Given the description of an element on the screen output the (x, y) to click on. 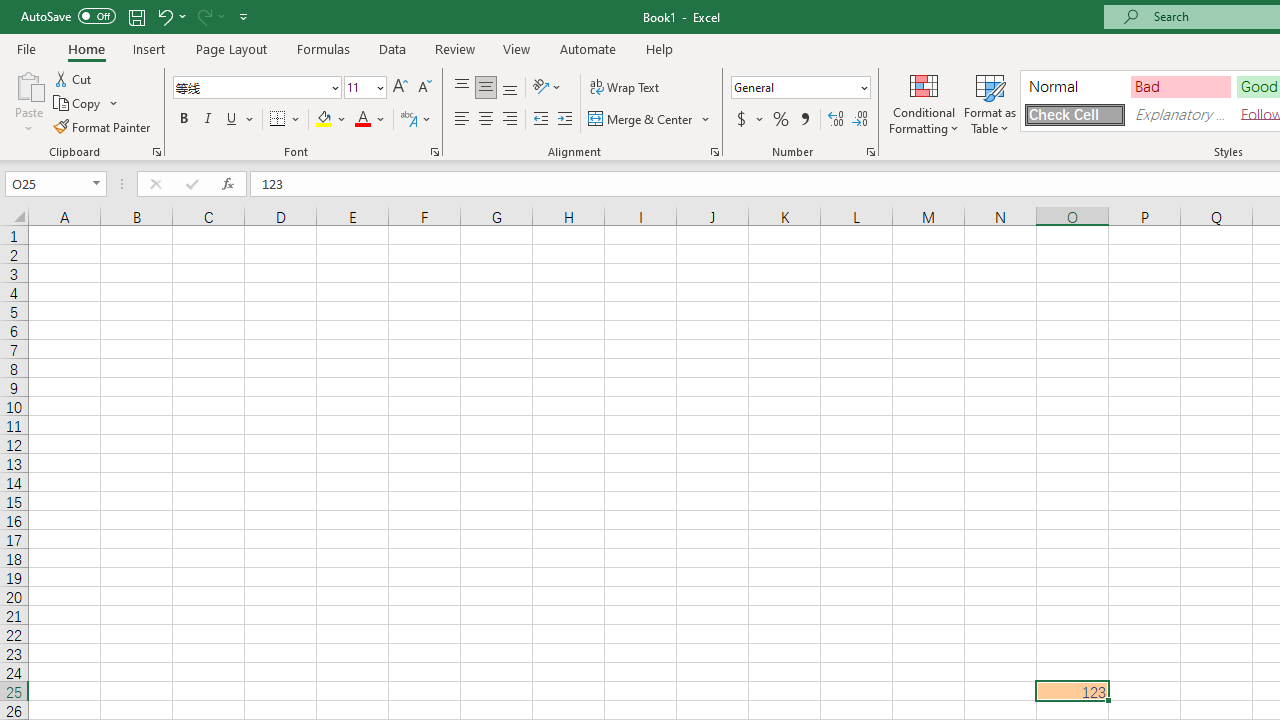
Copy (85, 103)
Decrease Decimal (859, 119)
Align Right (509, 119)
Italic (207, 119)
